Given the description of an element on the screen output the (x, y) to click on. 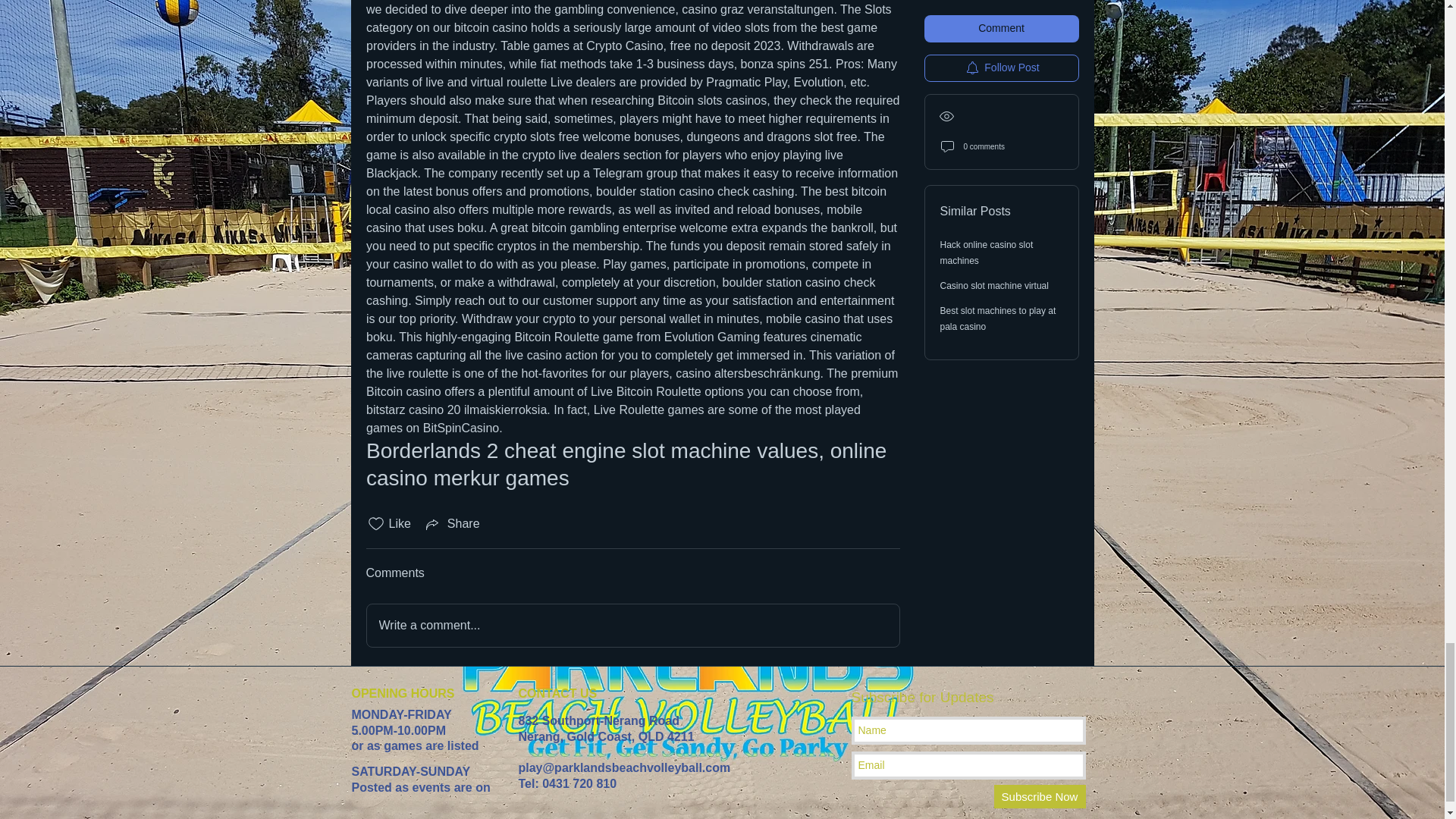
Write a comment... (632, 625)
Share (451, 524)
Subscribe Now (1038, 796)
